Given the description of an element on the screen output the (x, y) to click on. 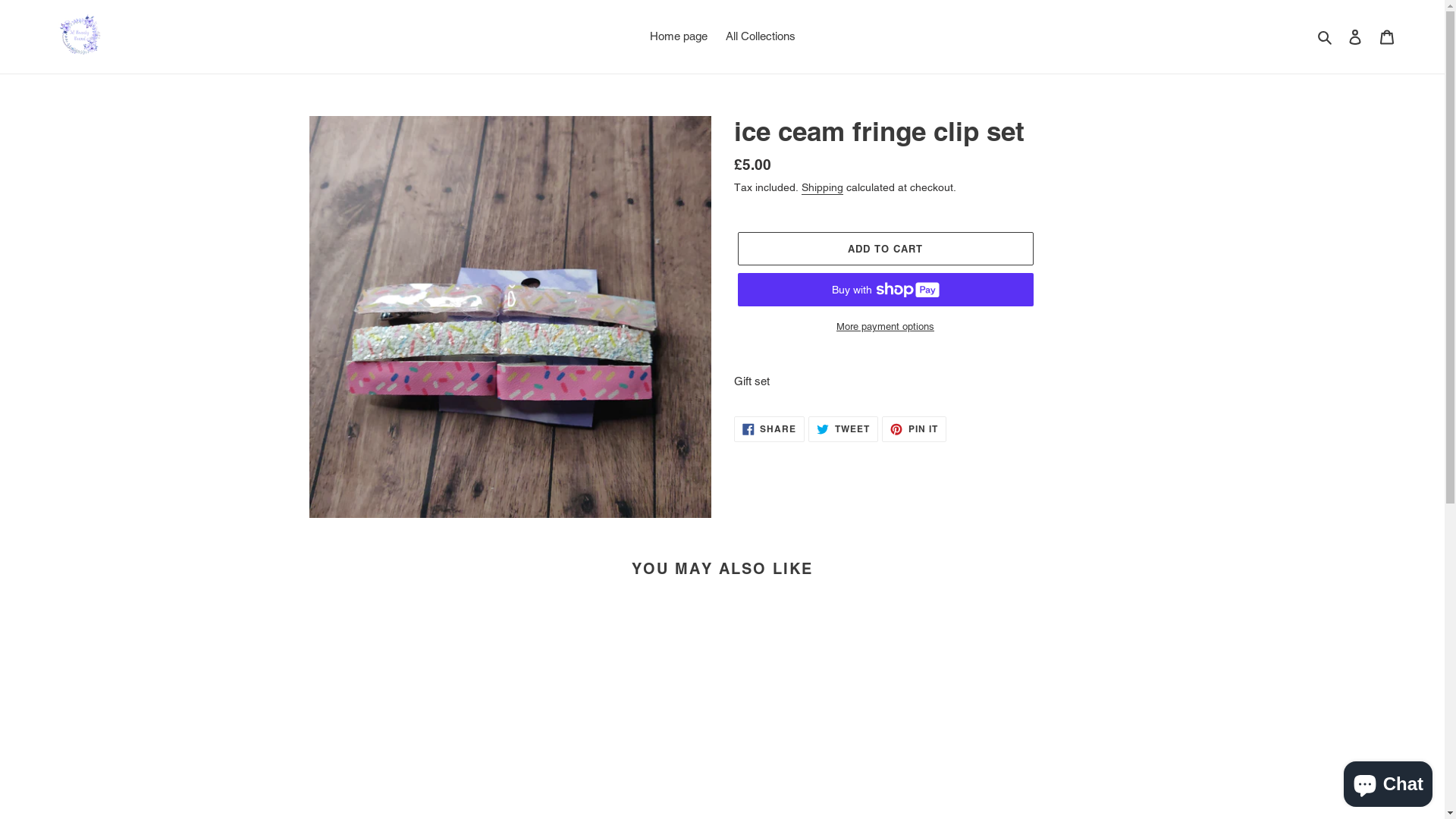
ADD TO CART Element type: text (884, 248)
More payment options Element type: text (884, 326)
PIN IT
PIN ON PINTEREST Element type: text (913, 429)
SHARE
SHARE ON FACEBOOK Element type: text (769, 429)
Shopify online store chat Element type: hover (1388, 780)
Shipping Element type: text (821, 187)
All Collections Element type: text (759, 36)
Home page Element type: text (677, 36)
Log in Element type: text (1355, 36)
Cart Element type: text (1386, 36)
Search Element type: text (1325, 36)
TWEET
TWEET ON TWITTER Element type: text (843, 429)
